Given the description of an element on the screen output the (x, y) to click on. 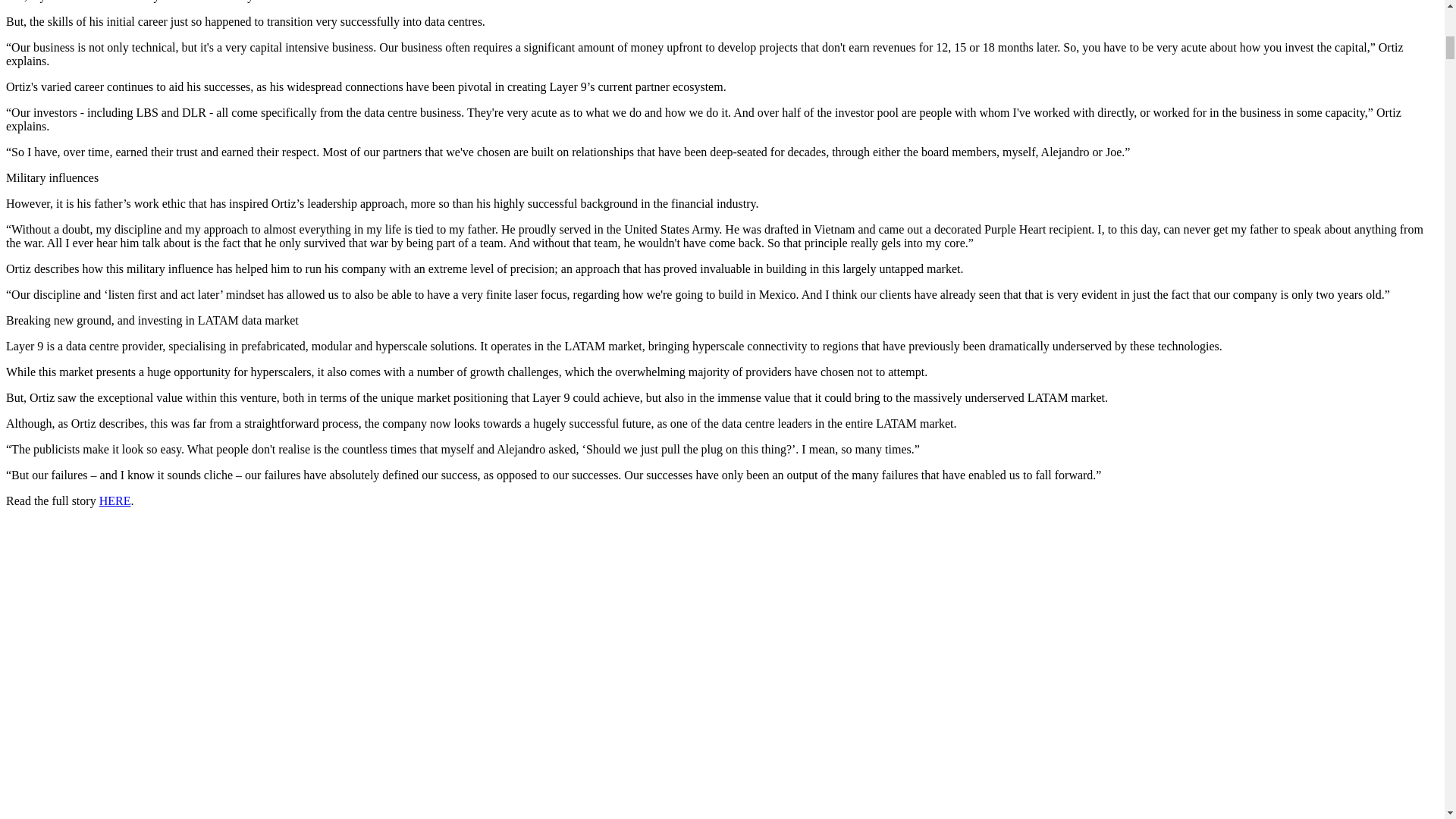
HERE (115, 500)
